Given the description of an element on the screen output the (x, y) to click on. 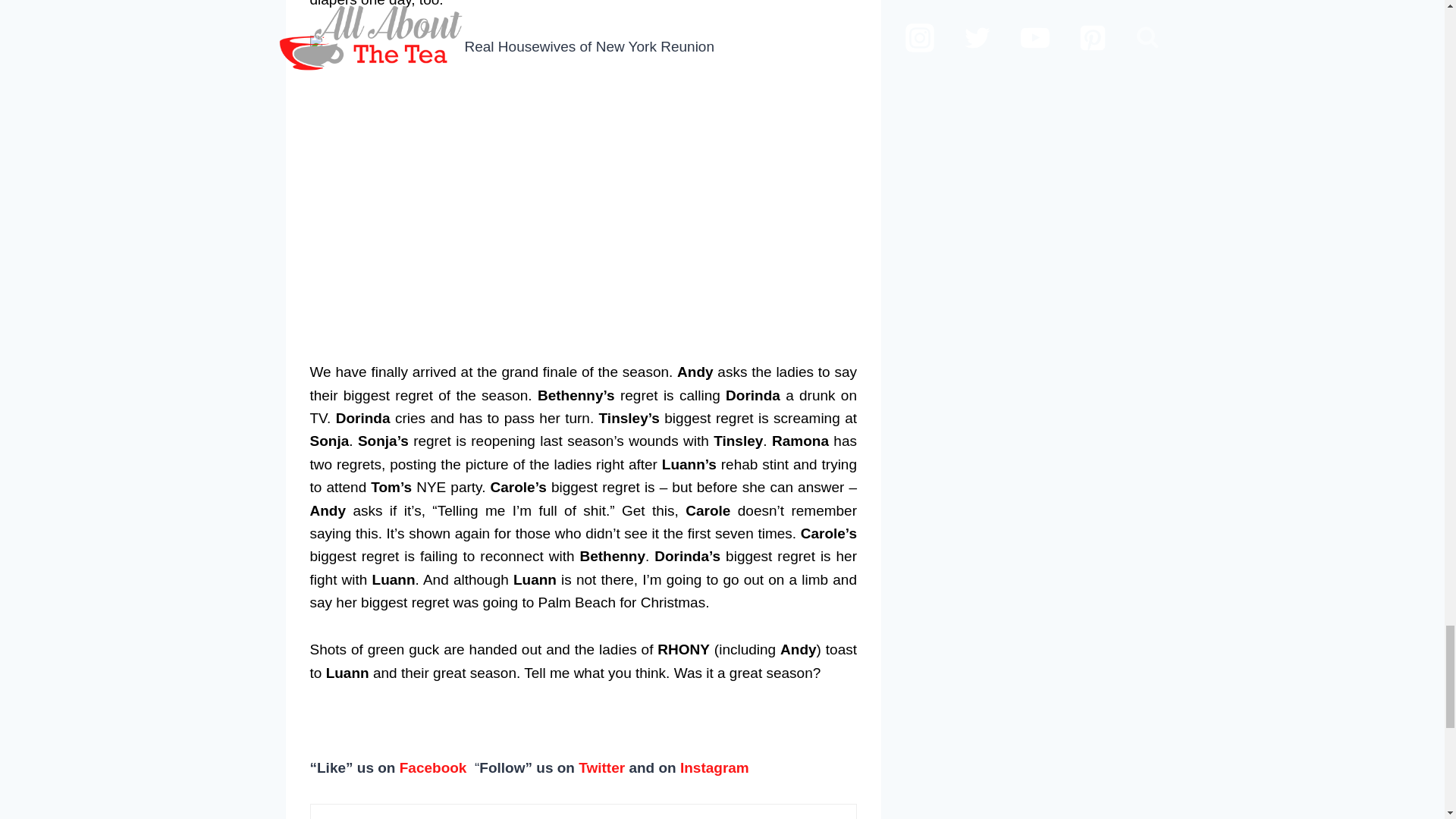
Instagram (714, 767)
Facebook (432, 767)
Twitter (601, 767)
